Given the description of an element on the screen output the (x, y) to click on. 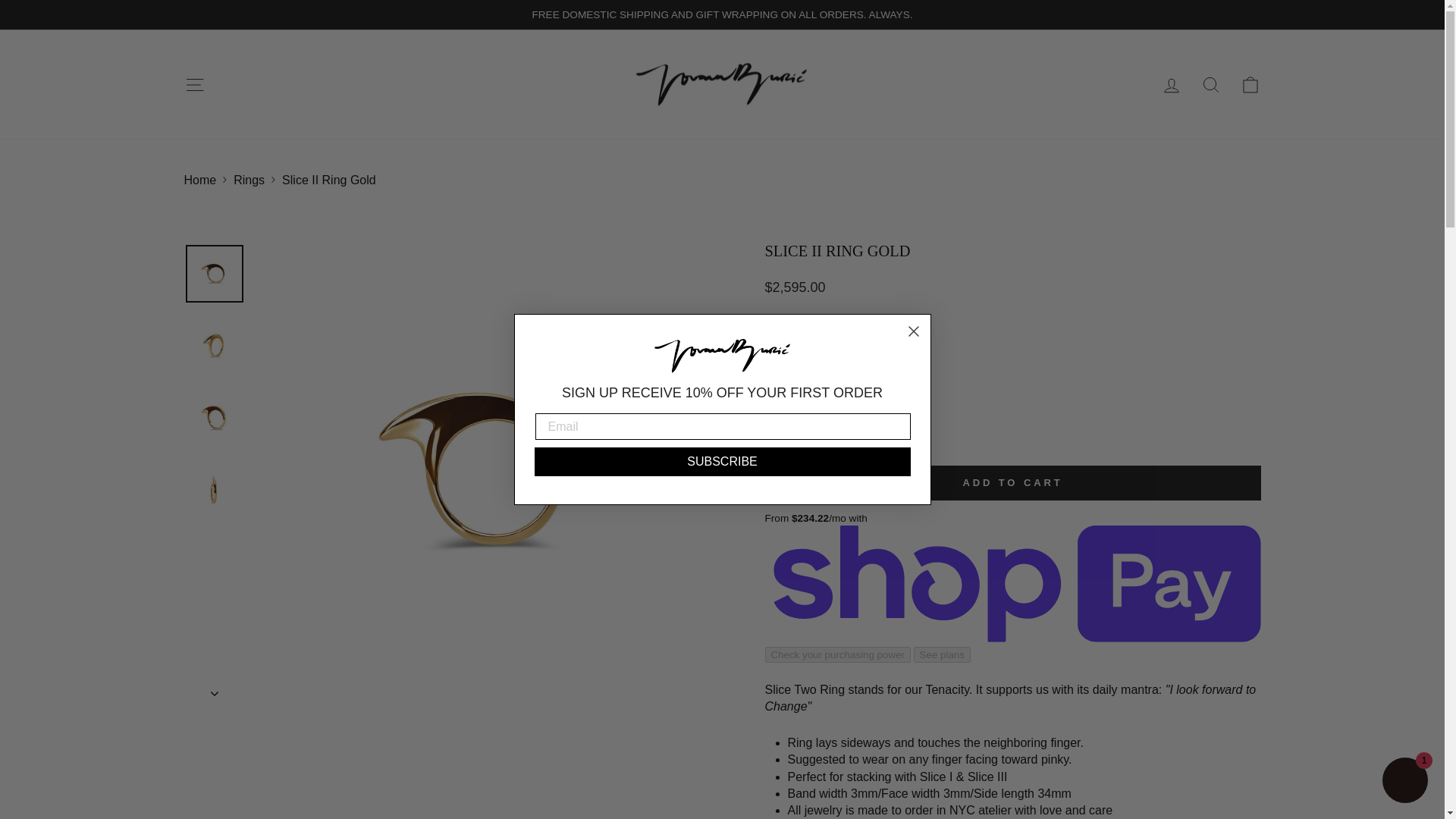
icon-chevron (214, 693)
ICON-HAMBURGER (194, 84)
ACCOUNT (1170, 85)
ICON-SEARCH (1210, 84)
ICON-BAG-MINIMAL (1249, 84)
1 (794, 432)
Shopify online store chat (1404, 781)
